Given the description of an element on the screen output the (x, y) to click on. 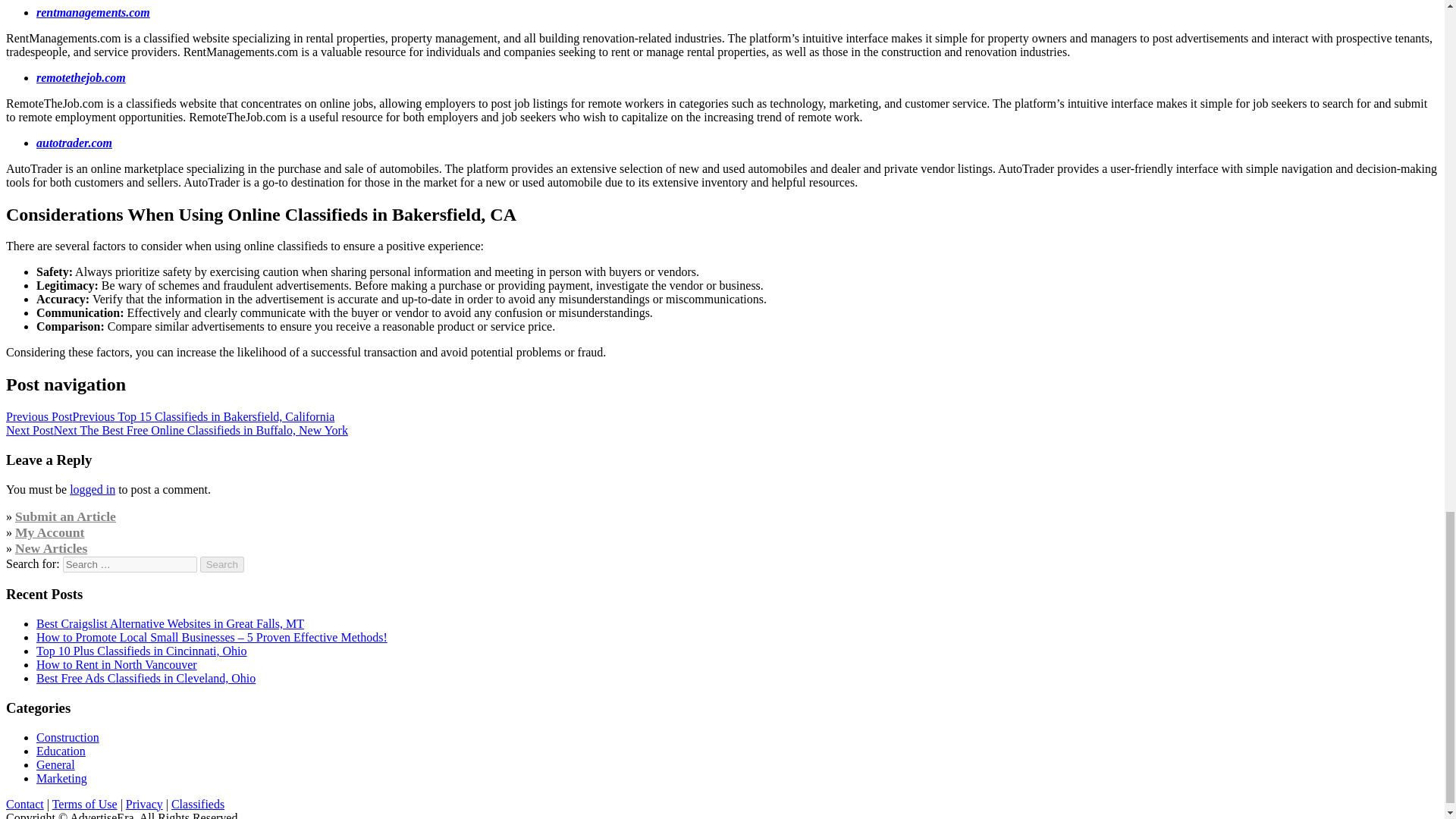
logged in (92, 489)
remotethejob.com (80, 77)
rentmanagements.com (92, 11)
Best Craigslist Alternative Websites in Great Falls, MT (170, 623)
My Account (49, 531)
Search (222, 564)
Top 10 Plus Classifieds in Cincinnati, Ohio (141, 650)
autotrader.com (74, 142)
Submit an Article (65, 516)
New Articles (50, 548)
Search (222, 564)
Search (222, 564)
